Given the description of an element on the screen output the (x, y) to click on. 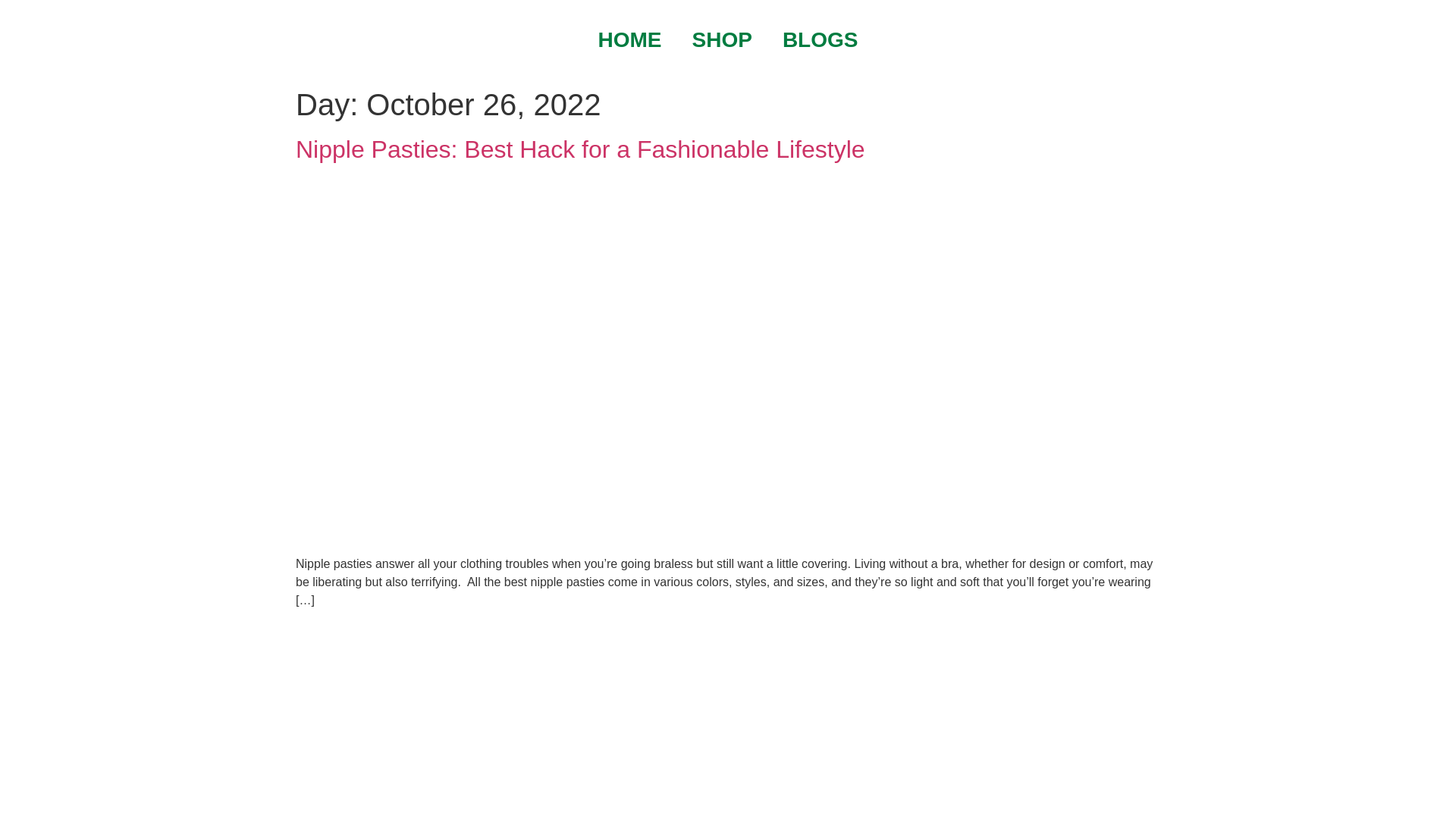
BLOGS Element type: text (820, 39)
SHOP Element type: text (722, 39)
HOME Element type: text (630, 39)
Nipple Pasties: Best Hack for a Fashionable Lifestyle Element type: text (580, 149)
